Given the description of an element on the screen output the (x, y) to click on. 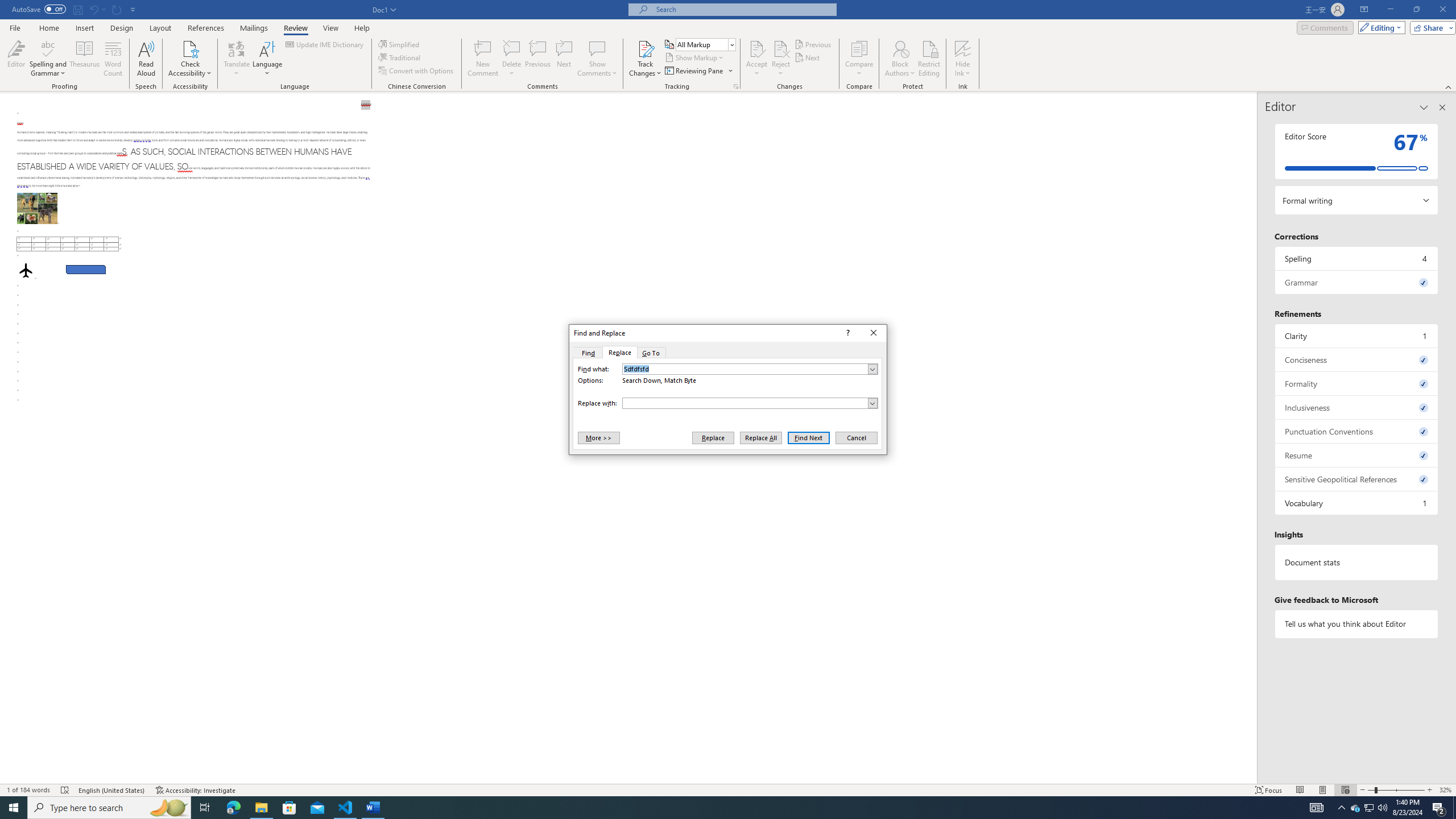
Q2790: 100% (1382, 807)
More >> (598, 437)
Replace with: (749, 402)
Editor Score 67% (1356, 151)
